Given the description of an element on the screen output the (x, y) to click on. 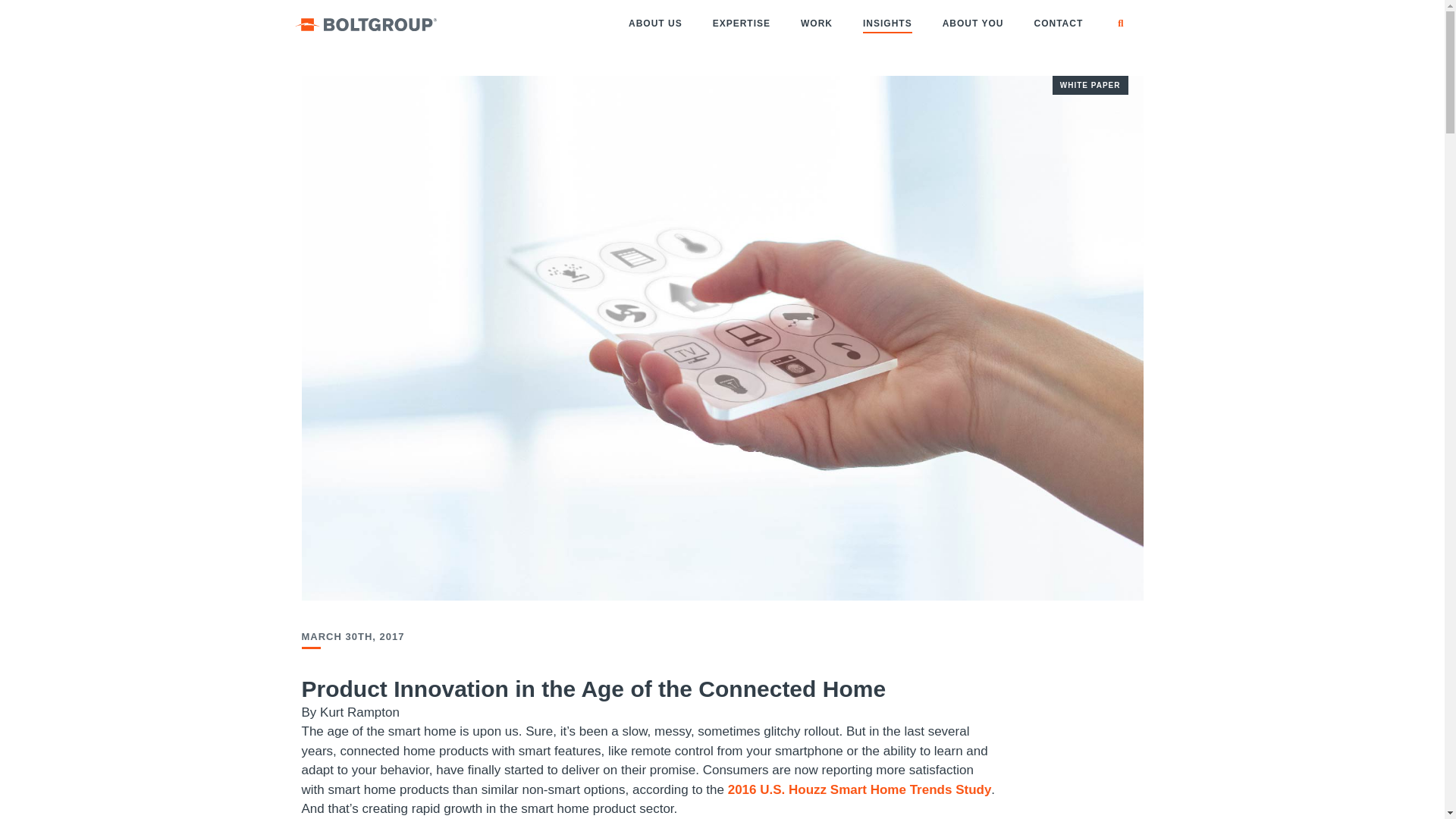
EXPERTISE (741, 22)
WORK (816, 22)
INSIGHTS (887, 22)
CONTACT (1057, 22)
2016 U.S. Houzz Smart Home Trends Study (859, 789)
ABOUT YOU (973, 22)
ABOUT US (654, 22)
